Given the description of an element on the screen output the (x, y) to click on. 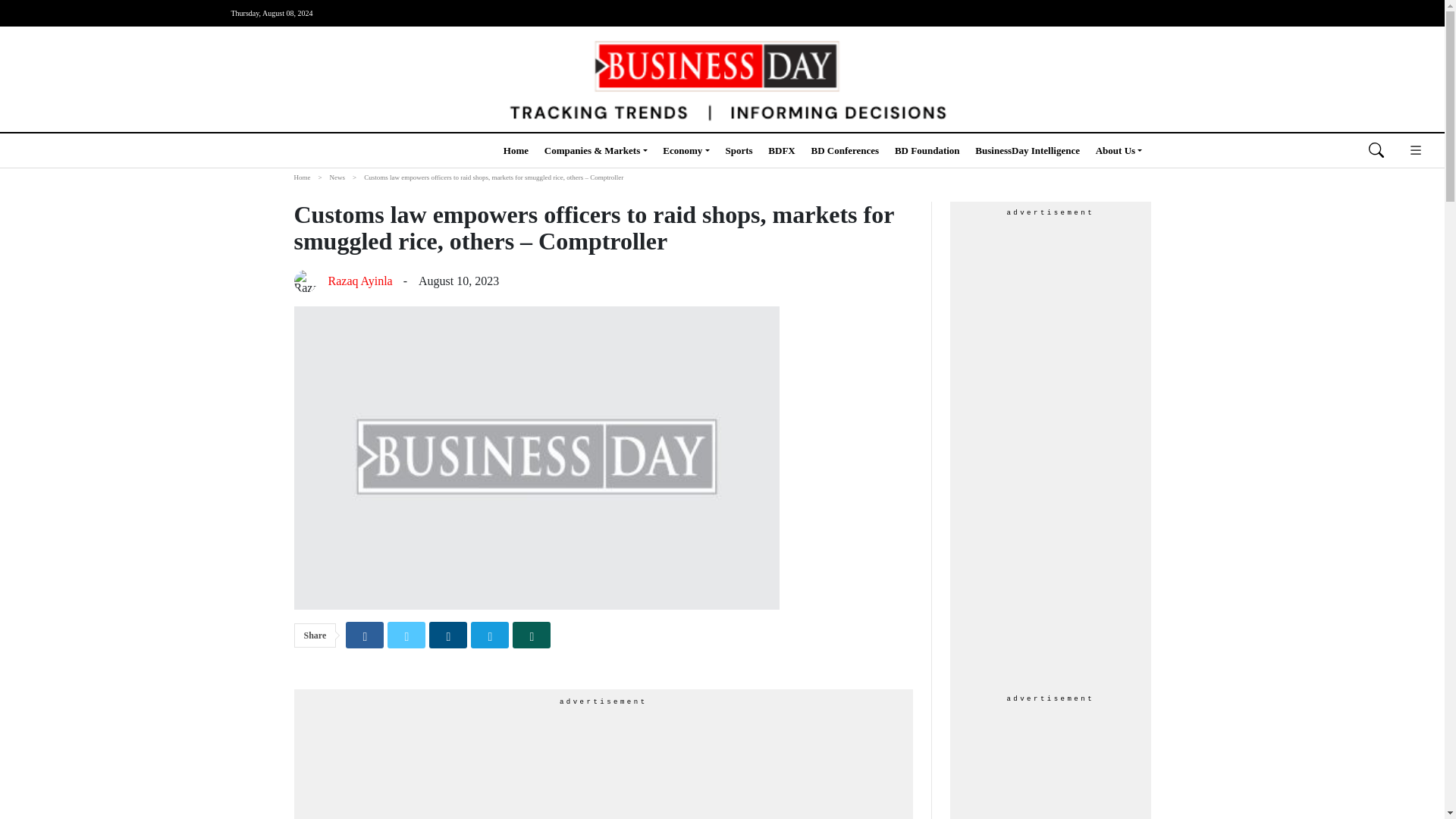
BusinessDay Intelligence (1027, 149)
About Us (1119, 149)
BD Foundation (927, 149)
BusinessDay Intelligence (1027, 149)
About Us (1119, 149)
BD Foundation (927, 149)
BD Conferences (844, 149)
BD Conferences (844, 149)
Economy (685, 149)
Economy (685, 149)
